Given the description of an element on the screen output the (x, y) to click on. 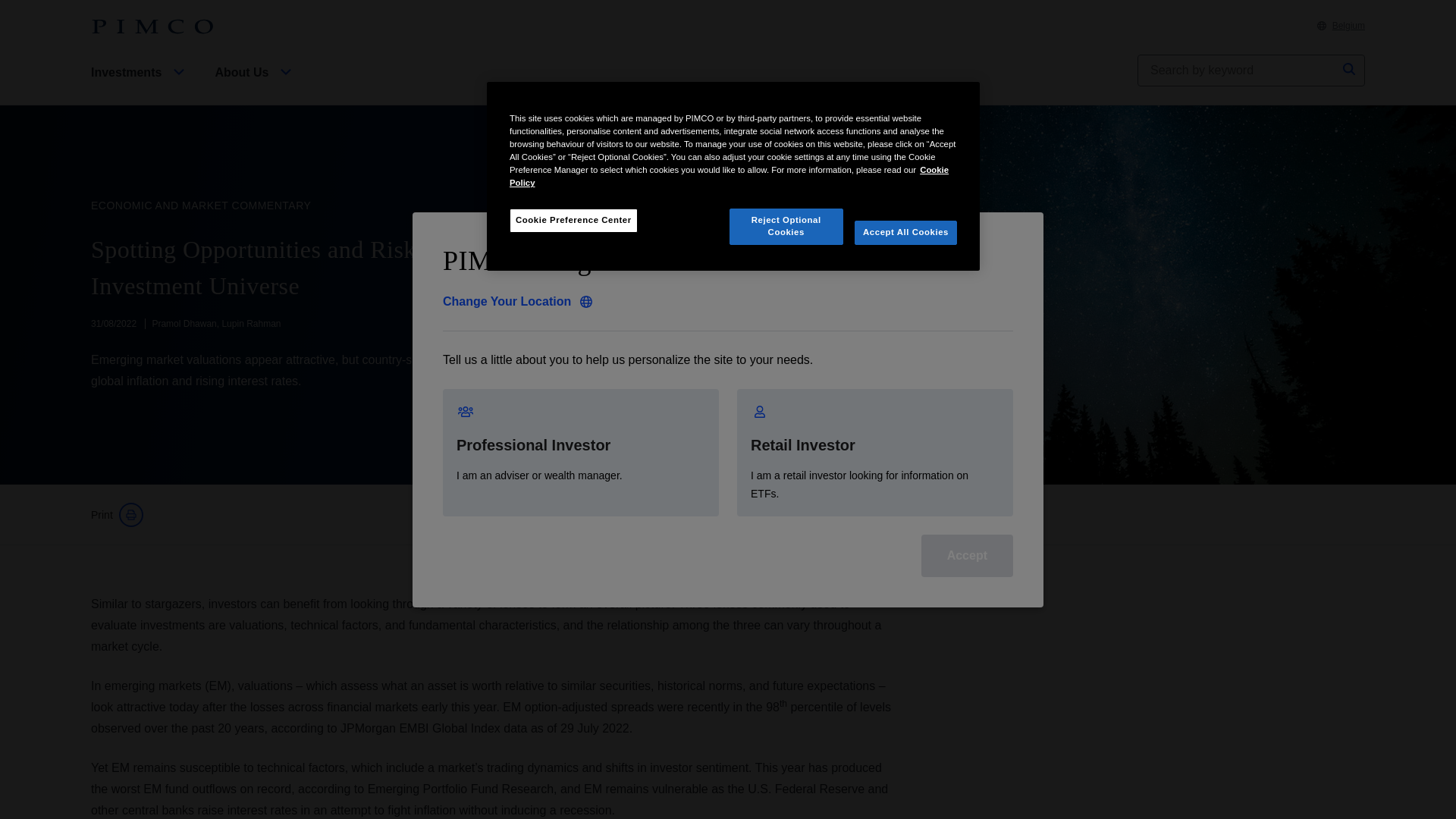
Print (116, 514)
About Us (255, 84)
Insert a query. Press enter to send (1237, 70)
Belgium (1341, 25)
Investments (140, 84)
PIMCO Home (152, 27)
